Given the description of an element on the screen output the (x, y) to click on. 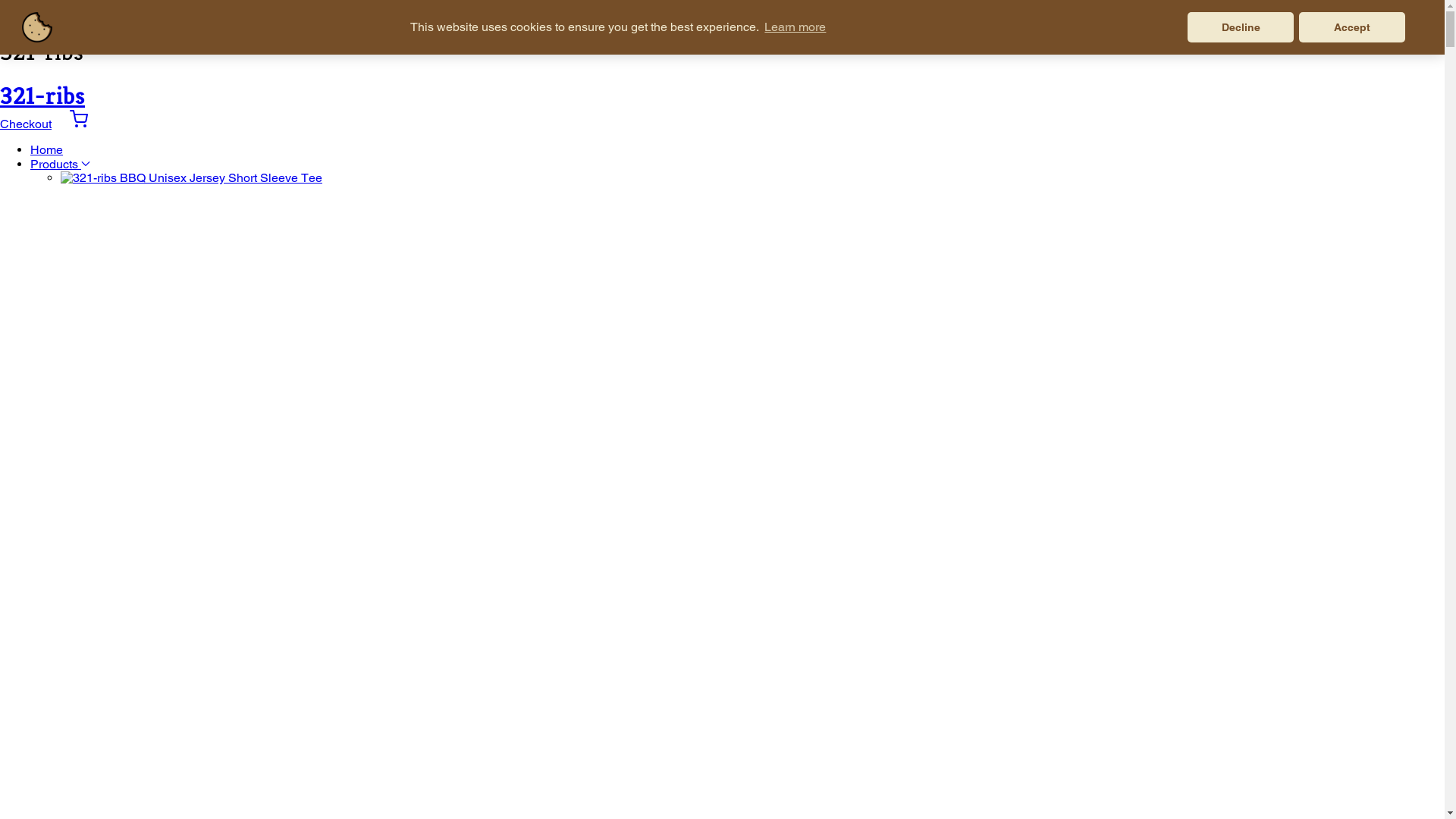
Accept Element type: text (1352, 27)
Home Element type: text (46, 149)
Products Element type: text (60, 163)
321-ribs Element type: text (42, 95)
Learn more Element type: text (795, 26)
Decline Element type: text (1240, 27)
Checkout Element type: text (25, 123)
